Given the description of an element on the screen output the (x, y) to click on. 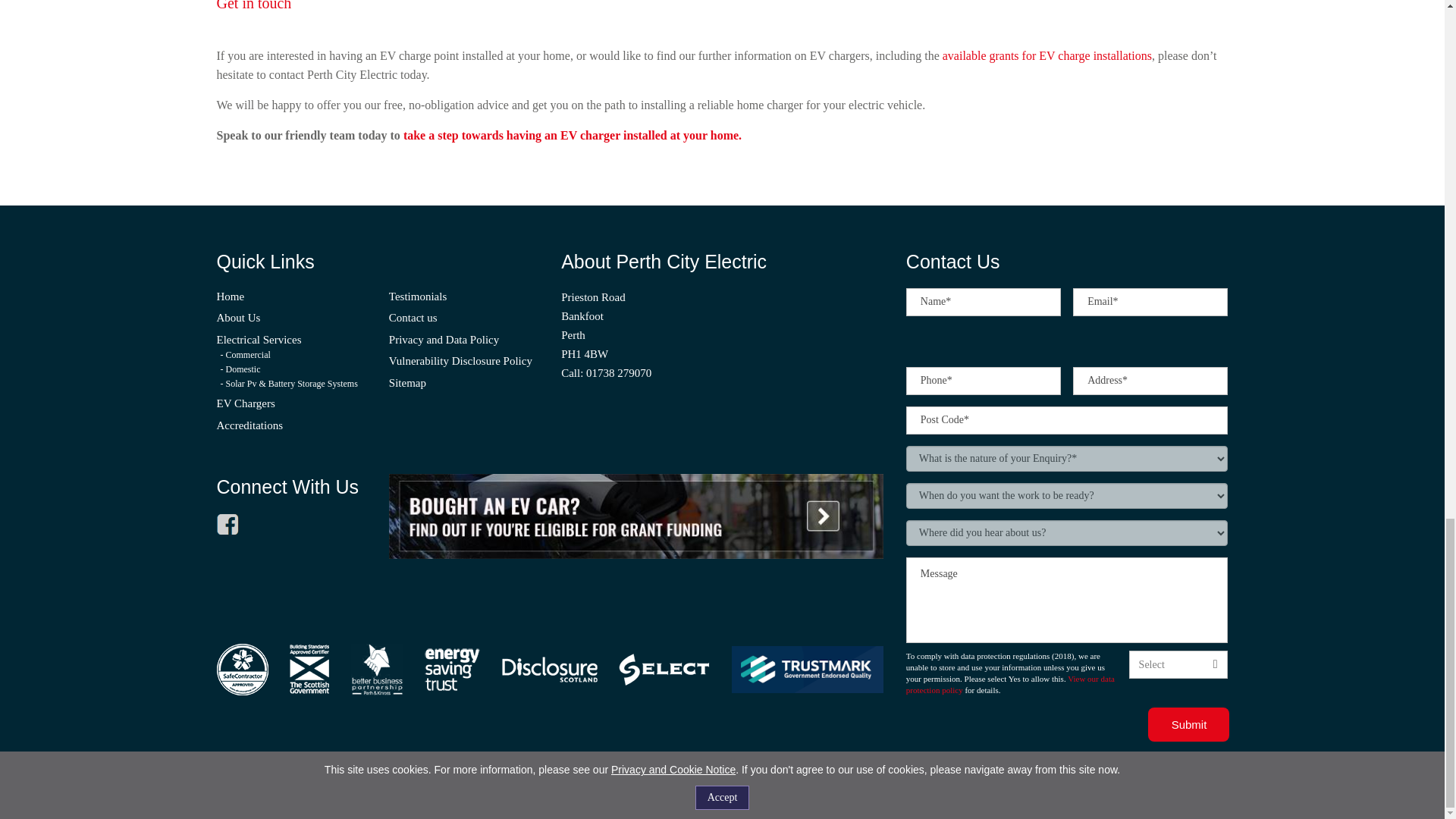
- Domestic (239, 368)
available grants for EV charge installations (1046, 55)
Accreditations (249, 425)
Vulnerability Disclosure Policy (460, 360)
About Us (238, 317)
- Commercial (244, 354)
Sitemap (407, 382)
Testimonials (417, 296)
Home (230, 296)
Contact us (413, 317)
EV Chargers (245, 403)
Privacy and Data Policy (443, 339)
